Given the description of an element on the screen output the (x, y) to click on. 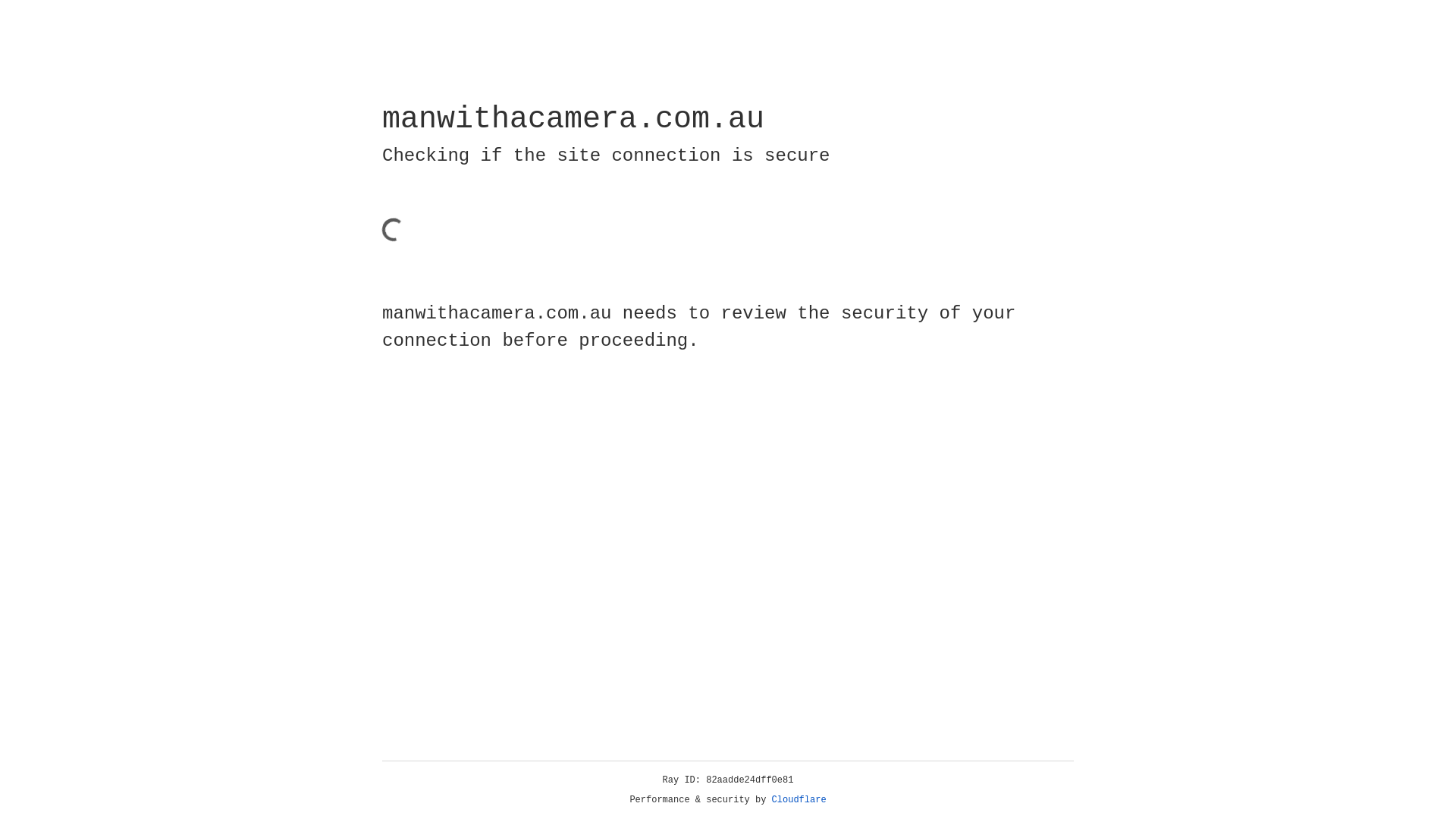
Cloudflare Element type: text (798, 799)
